Given the description of an element on the screen output the (x, y) to click on. 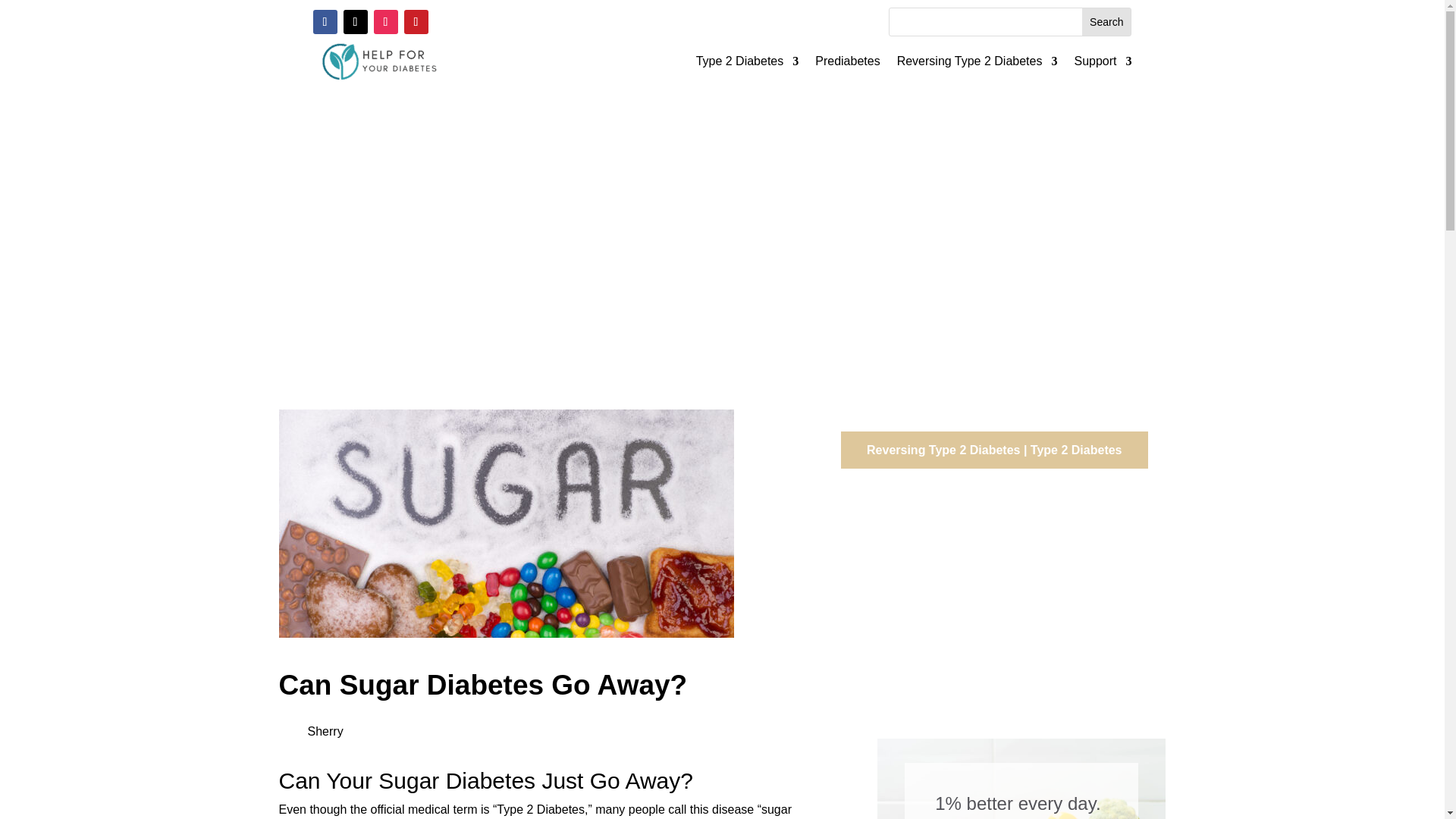
Search (1106, 22)
Follow on X (354, 21)
Type 2 Diabetes (747, 64)
Follow on Facebook (324, 21)
Support (1102, 64)
Prediabetes (847, 64)
Follow on Instagram (384, 21)
Follow on Pinterest (415, 21)
HFYD 250x250 transp (377, 61)
Reversing Type 2 Diabetes (977, 64)
Search (1106, 22)
Search (1106, 22)
